Given the description of an element on the screen output the (x, y) to click on. 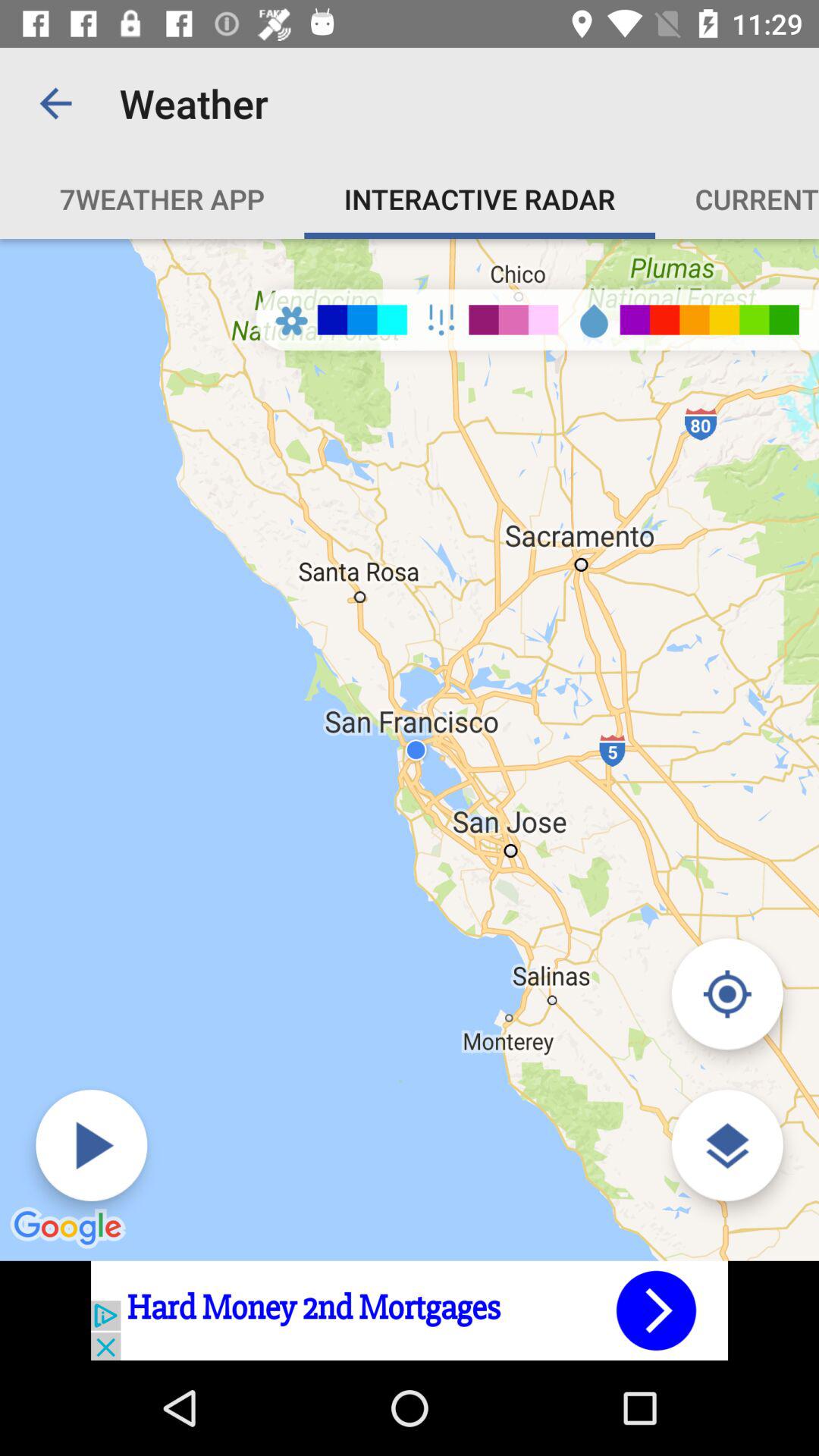
advertisement (409, 1310)
